Given the description of an element on the screen output the (x, y) to click on. 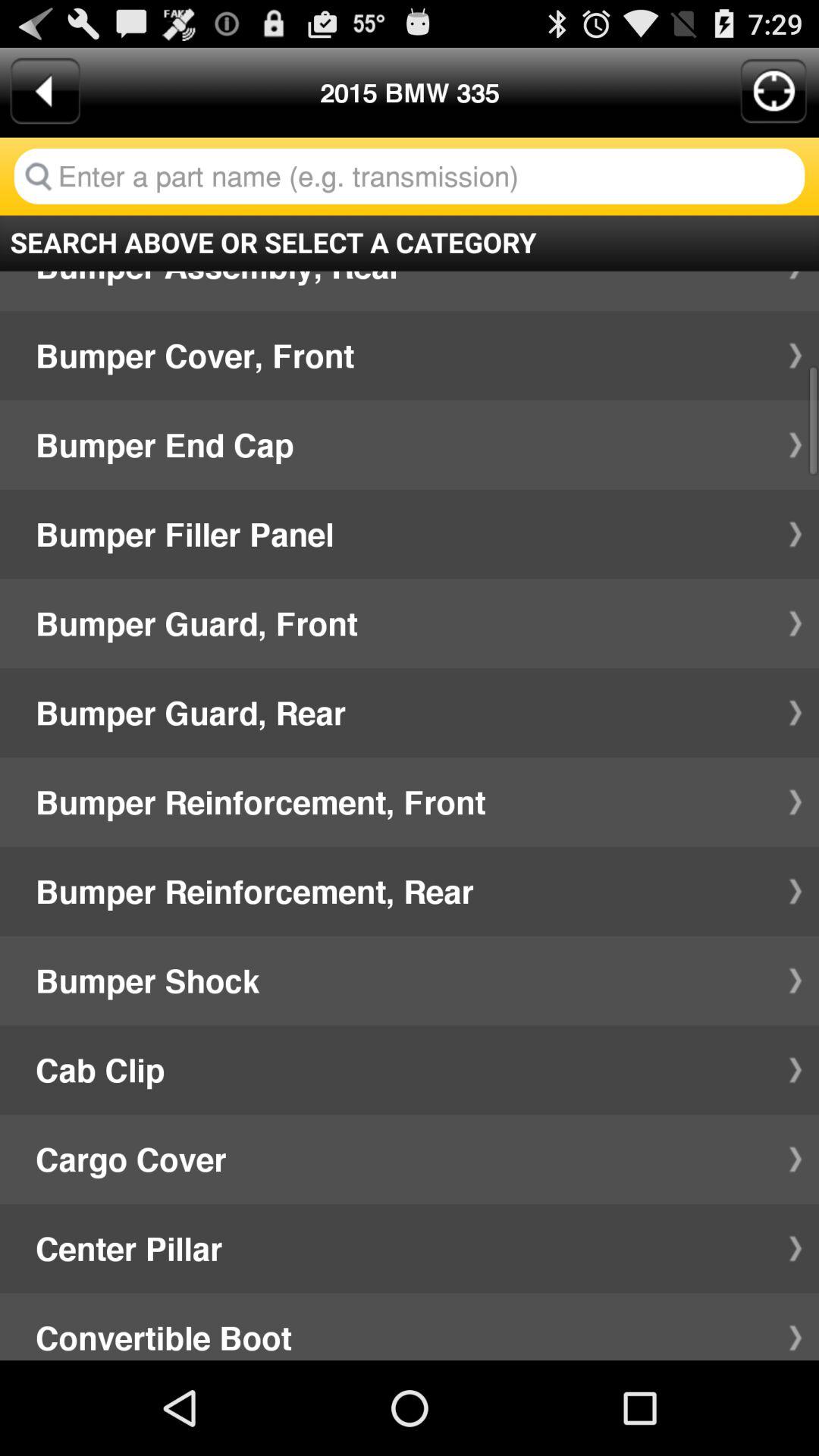
turn on the app next to the 2015 bmw 335 app (773, 90)
